Given the description of an element on the screen output the (x, y) to click on. 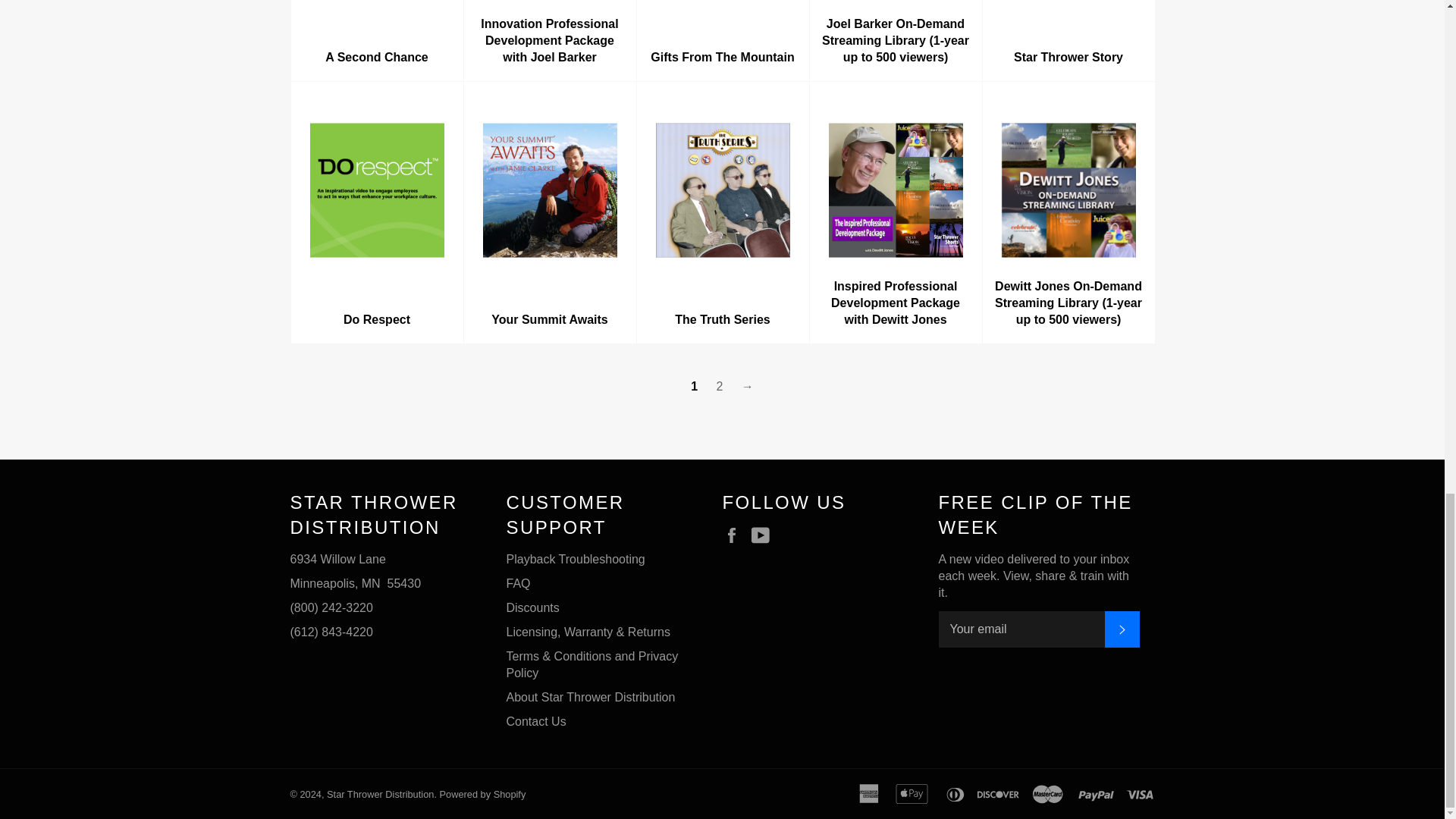
Star Thrower Distribution on Facebook (735, 535)
Star Thrower Distribution on YouTube (764, 535)
